Given the description of an element on the screen output the (x, y) to click on. 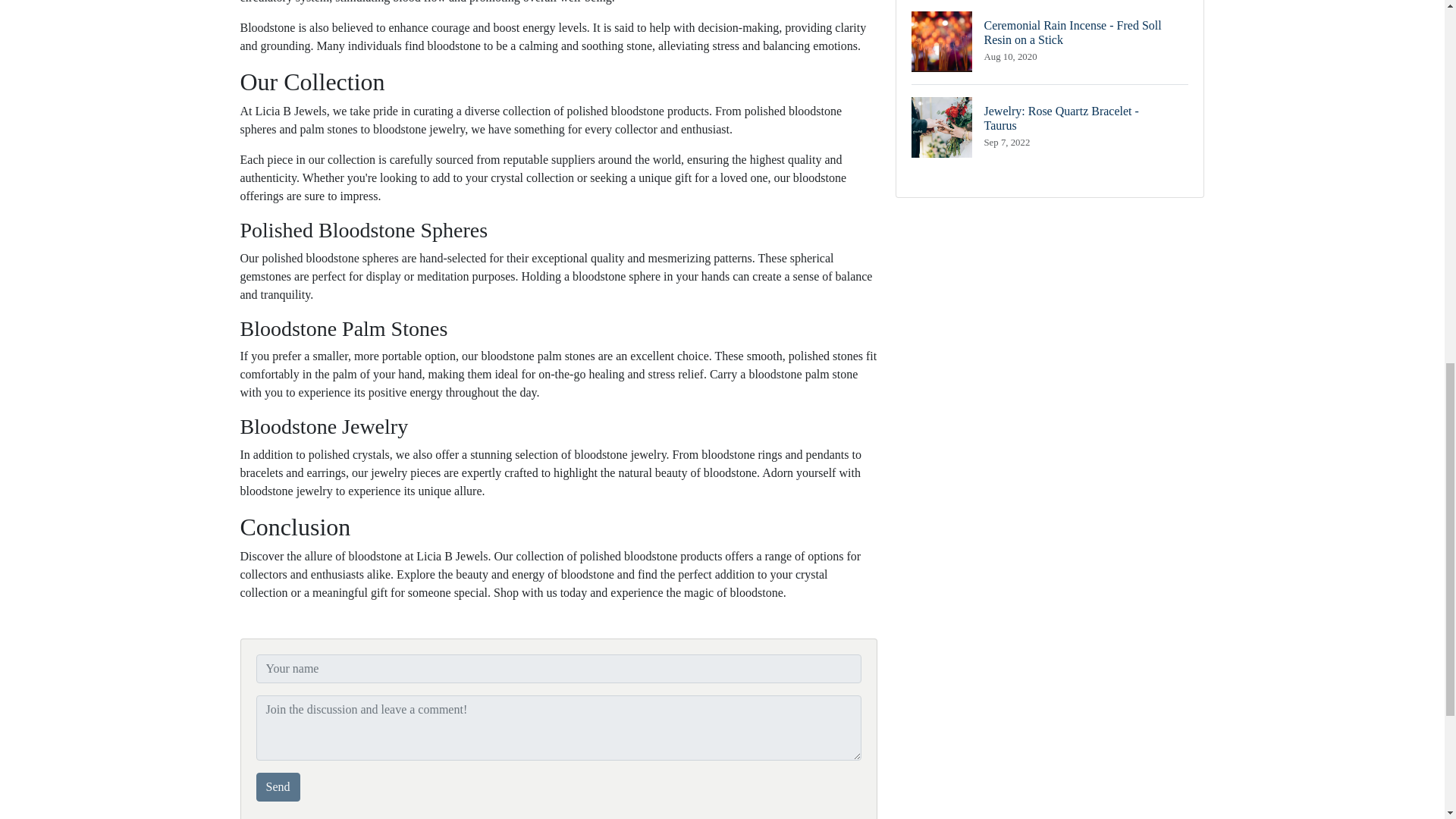
Send (1050, 126)
Send (277, 787)
